Given the description of an element on the screen output the (x, y) to click on. 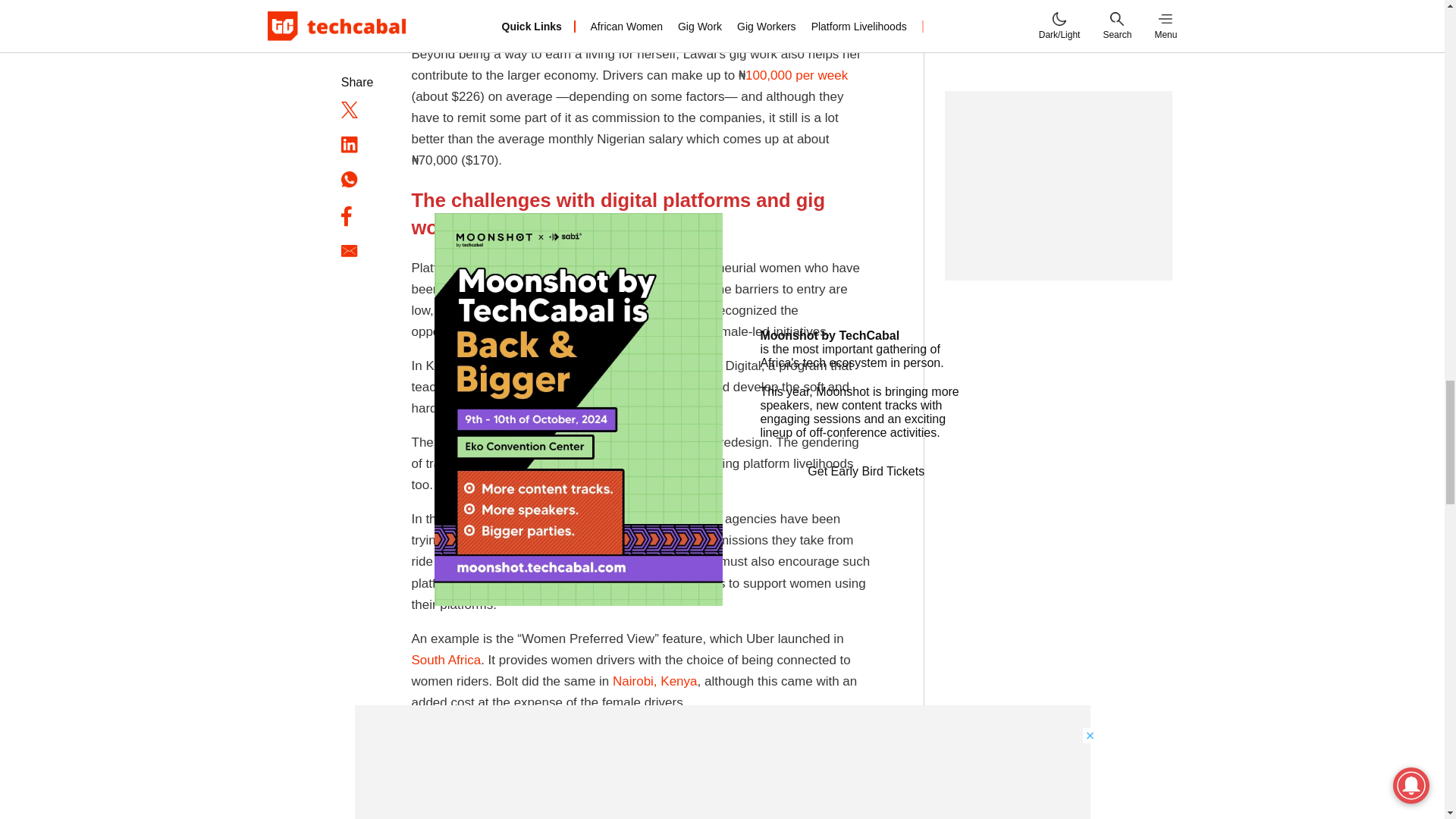
3rd party ad content (1058, 101)
3rd party ad content (1058, 777)
